Given the description of an element on the screen output the (x, y) to click on. 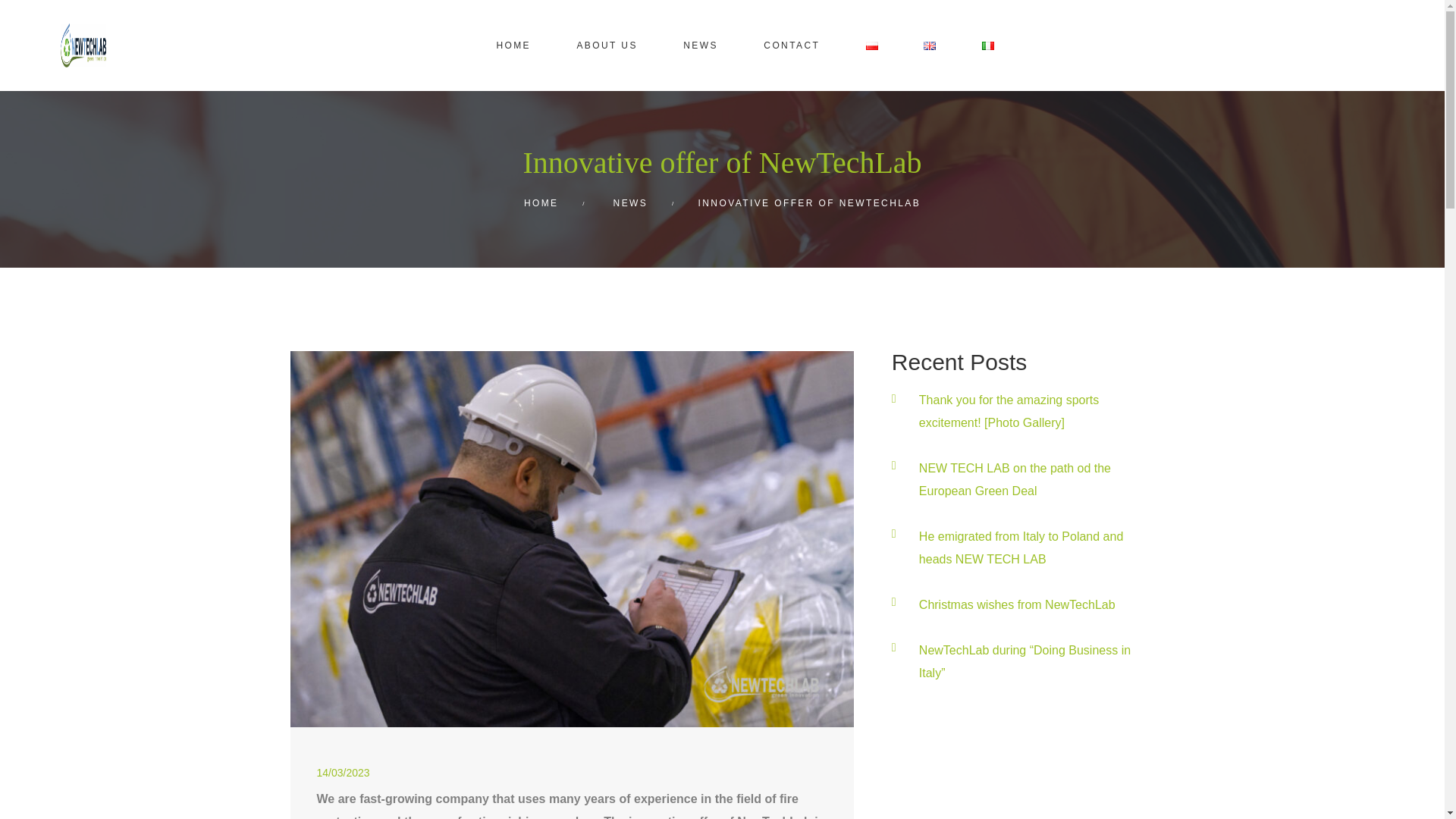
NEWS (629, 203)
ABOUT US (606, 45)
CONTACT (790, 45)
NEW TECH LAB on the path od the European Green Deal (1014, 479)
Christmas wishes from NewTechLab (1016, 604)
He emigrated from Italy to Poland and heads NEW TECH LAB  (1020, 547)
HOME (541, 203)
